Given the description of an element on the screen output the (x, y) to click on. 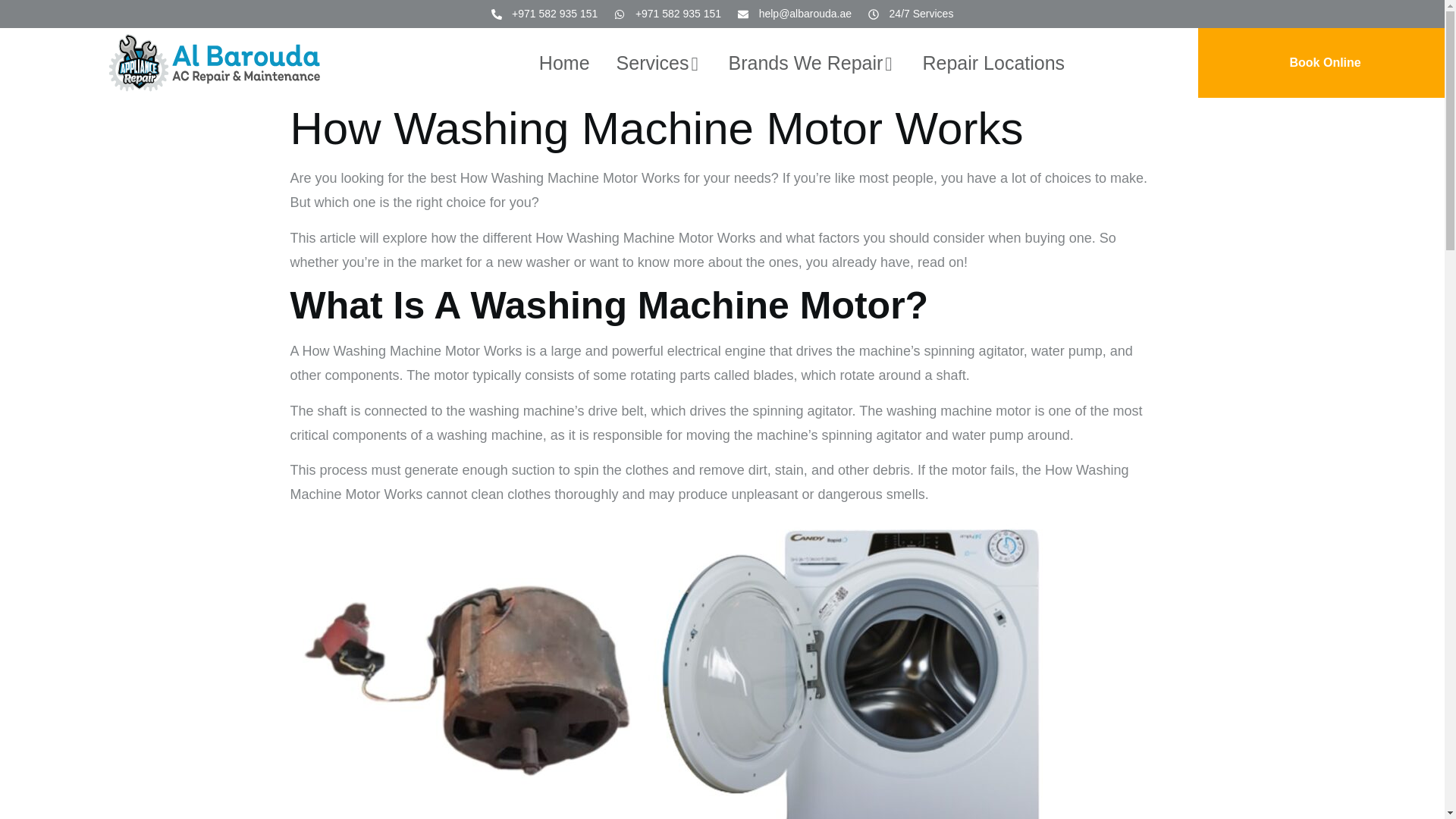
Brands We Repair (812, 62)
Services (658, 62)
Repair Locations (992, 62)
Home (563, 62)
